Given the description of an element on the screen output the (x, y) to click on. 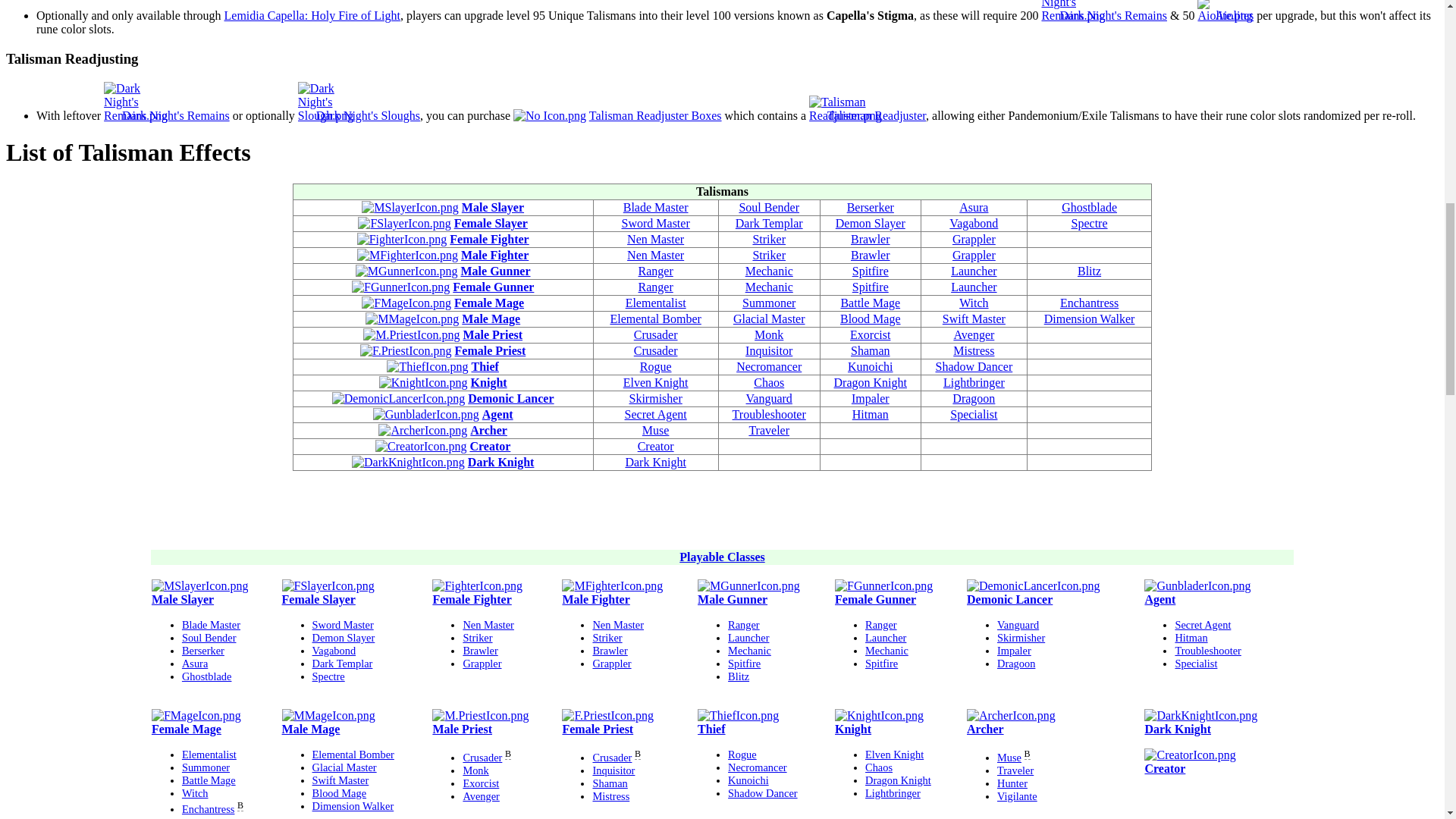
Lemidia Capella: Holy Fire of Light (312, 15)
Talisman Readjuster Boxes (655, 115)
Aiolites (1234, 15)
Dark Night's Remains (1113, 15)
Dark Night's Sloughs (367, 115)
Dark Night's Remains (176, 115)
